Given the description of an element on the screen output the (x, y) to click on. 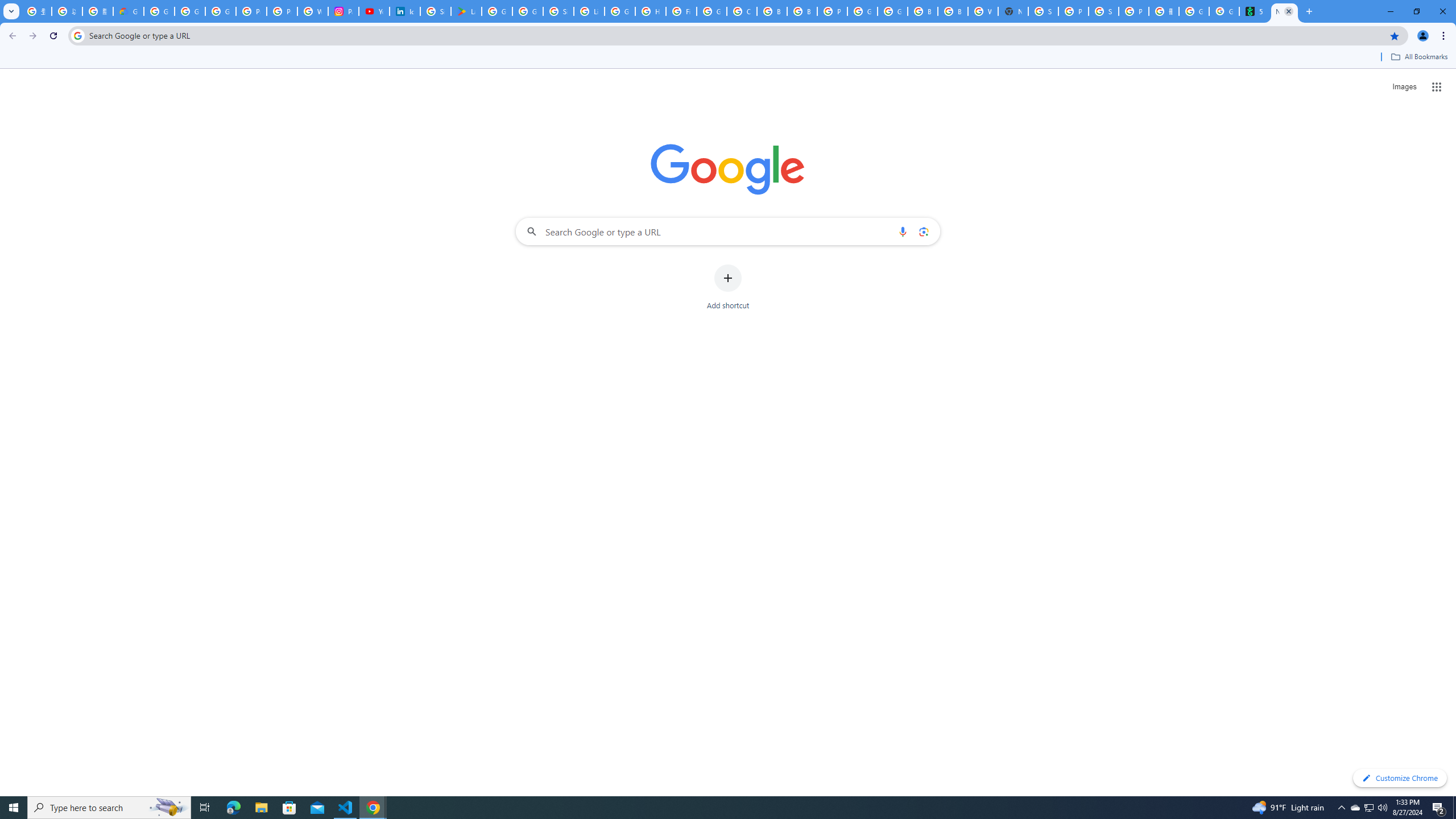
Sign in - Google Accounts (434, 11)
Browse Chrome as a guest - Computer - Google Chrome Help (952, 11)
Search by voice (902, 230)
YouTube Culture & Trends - On The Rise: Handcam Videos (373, 11)
New Tab (1283, 11)
Sign in - Google Accounts (558, 11)
Privacy Help Center - Policies Help (251, 11)
Sign in - Google Accounts (1042, 11)
Last Shelter: Survival - Apps on Google Play (465, 11)
Search icon (77, 35)
